Given the description of an element on the screen output the (x, y) to click on. 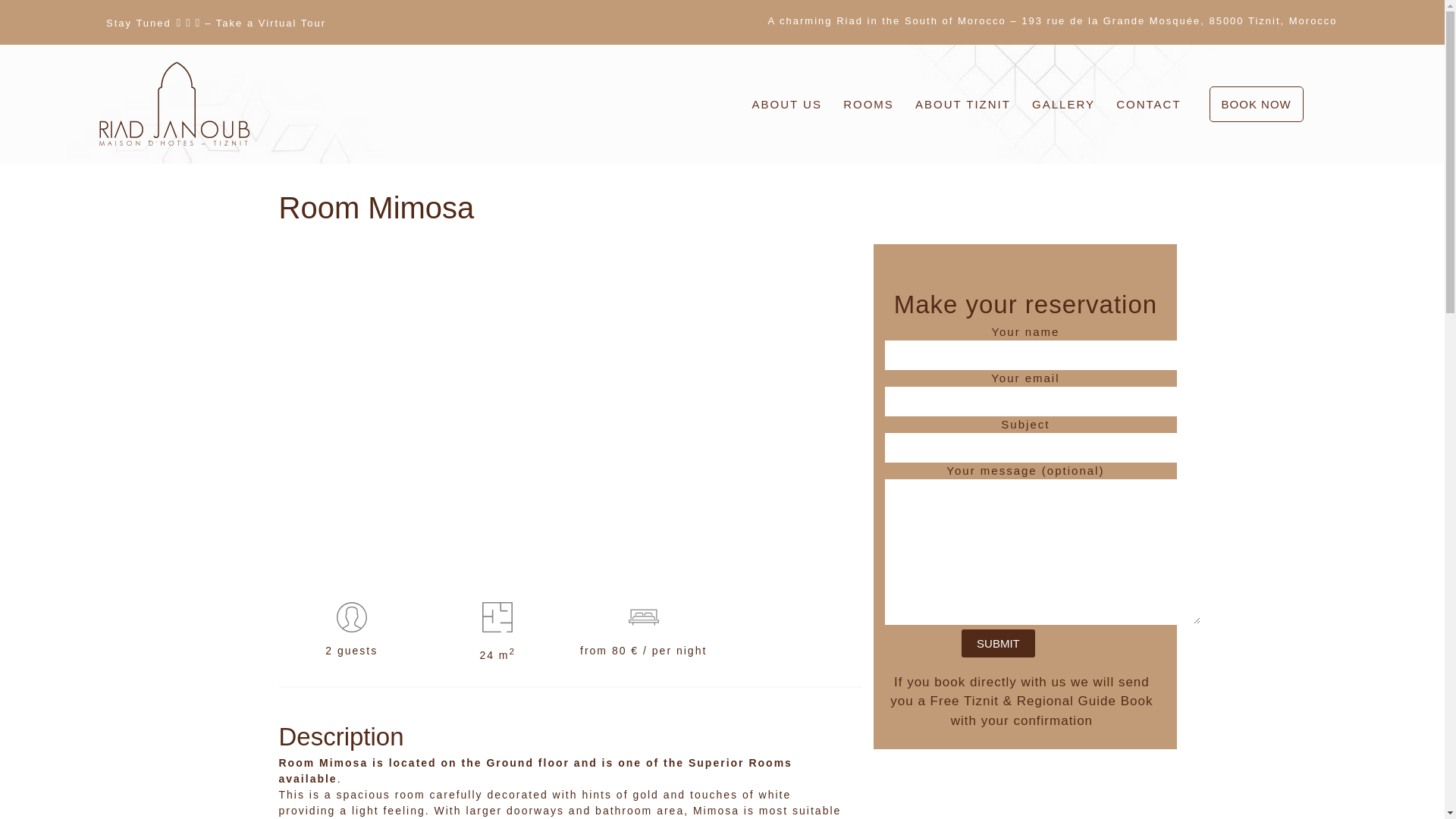
CONTACT (1149, 85)
ROOMS (923, 17)
SUBMIT (997, 643)
BOOK NOW (1256, 104)
GALLERY (1065, 82)
SUBMIT (997, 643)
ABOUT TIZNIT (966, 79)
ABOUT US (893, 3)
